Given the description of an element on the screen output the (x, y) to click on. 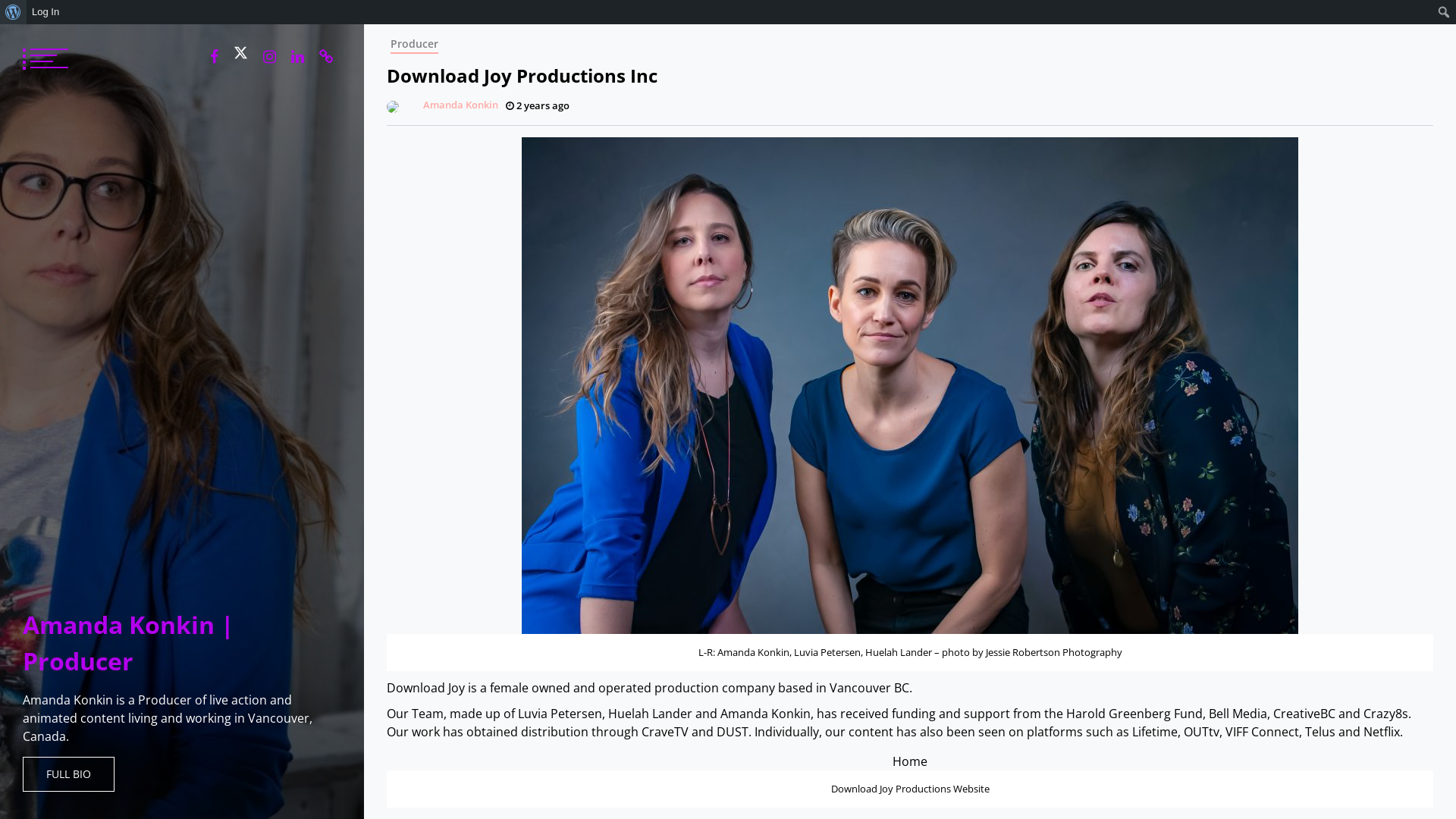
Search Element type: text (16, 12)
Linked In Element type: text (297, 56)
Instagram Element type: text (269, 56)
Email Element type: text (326, 56)
Producer Element type: text (414, 43)
Home Element type: text (909, 761)
Log In Element type: text (45, 12)
Twitter Element type: text (240, 52)
Amanda Konkin | Producer Element type: text (128, 642)
Amanda Konkin Element type: text (442, 104)
Facebook Element type: text (213, 56)
FULL BIO Element type: text (68, 773)
Skip to content Element type: text (363, 23)
